Given the description of an element on the screen output the (x, y) to click on. 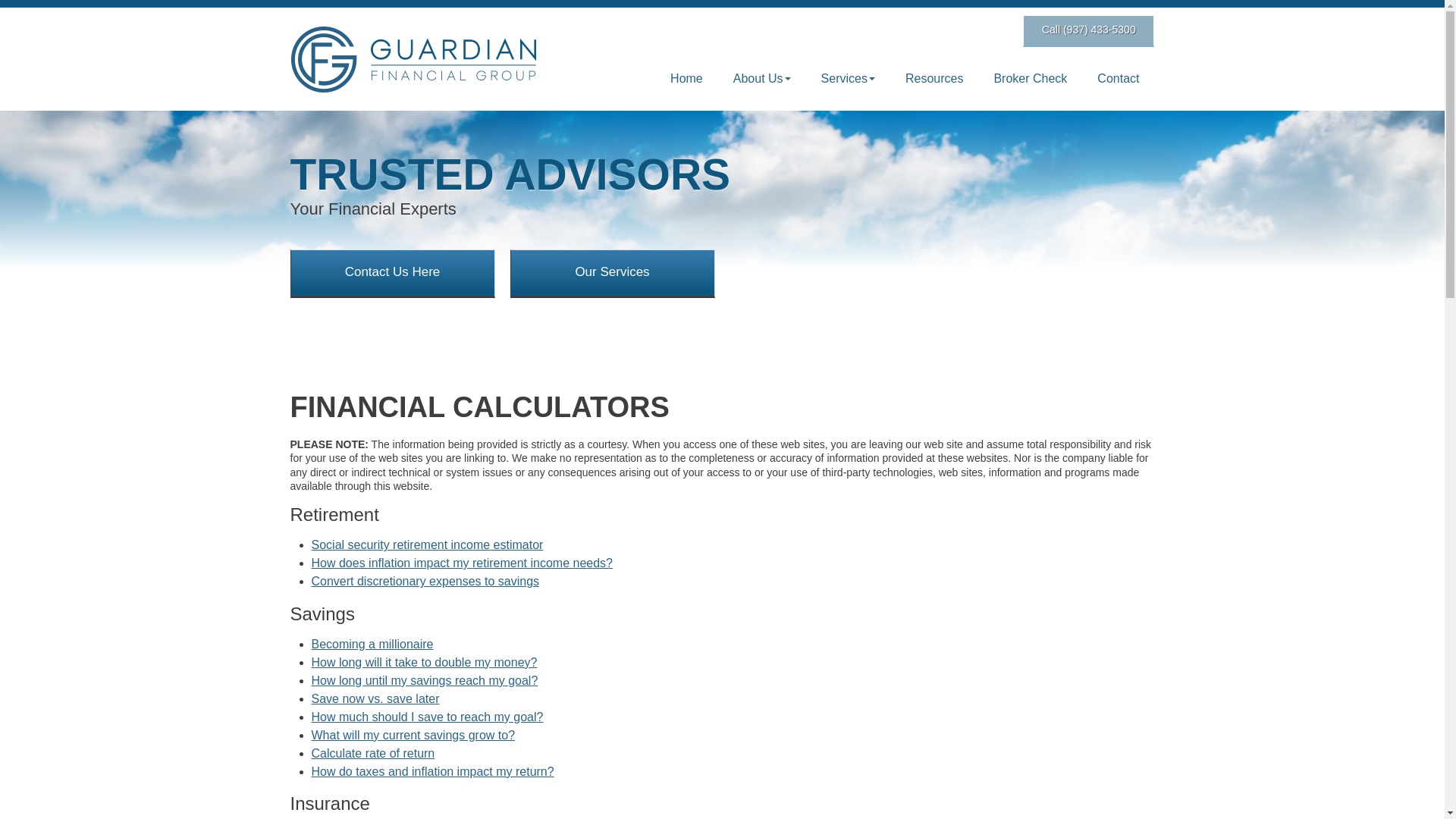
Contact (1117, 78)
Becoming a millionaire (371, 644)
About Us (761, 78)
Social security retirement income estimator (427, 544)
Our Services (611, 273)
Convert discretionary expenses to savings (424, 581)
How does inflation impact my retirement income needs? (461, 562)
Home (686, 78)
Resources (933, 78)
Broker Check (1029, 78)
Contact Us Here (392, 273)
Services (847, 78)
